Given the description of an element on the screen output the (x, y) to click on. 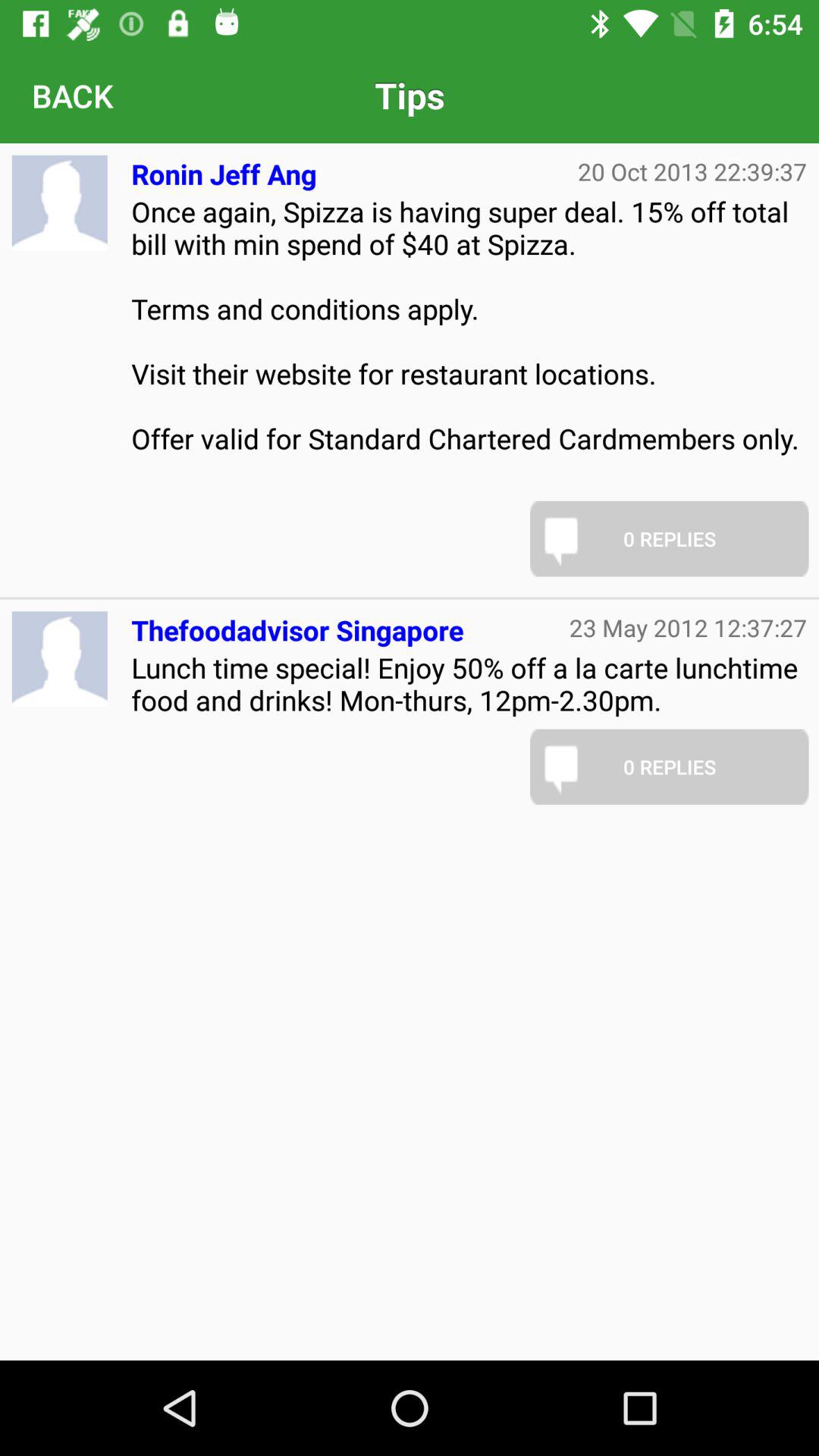
choose the item above the 0 replies icon (469, 341)
